Given the description of an element on the screen output the (x, y) to click on. 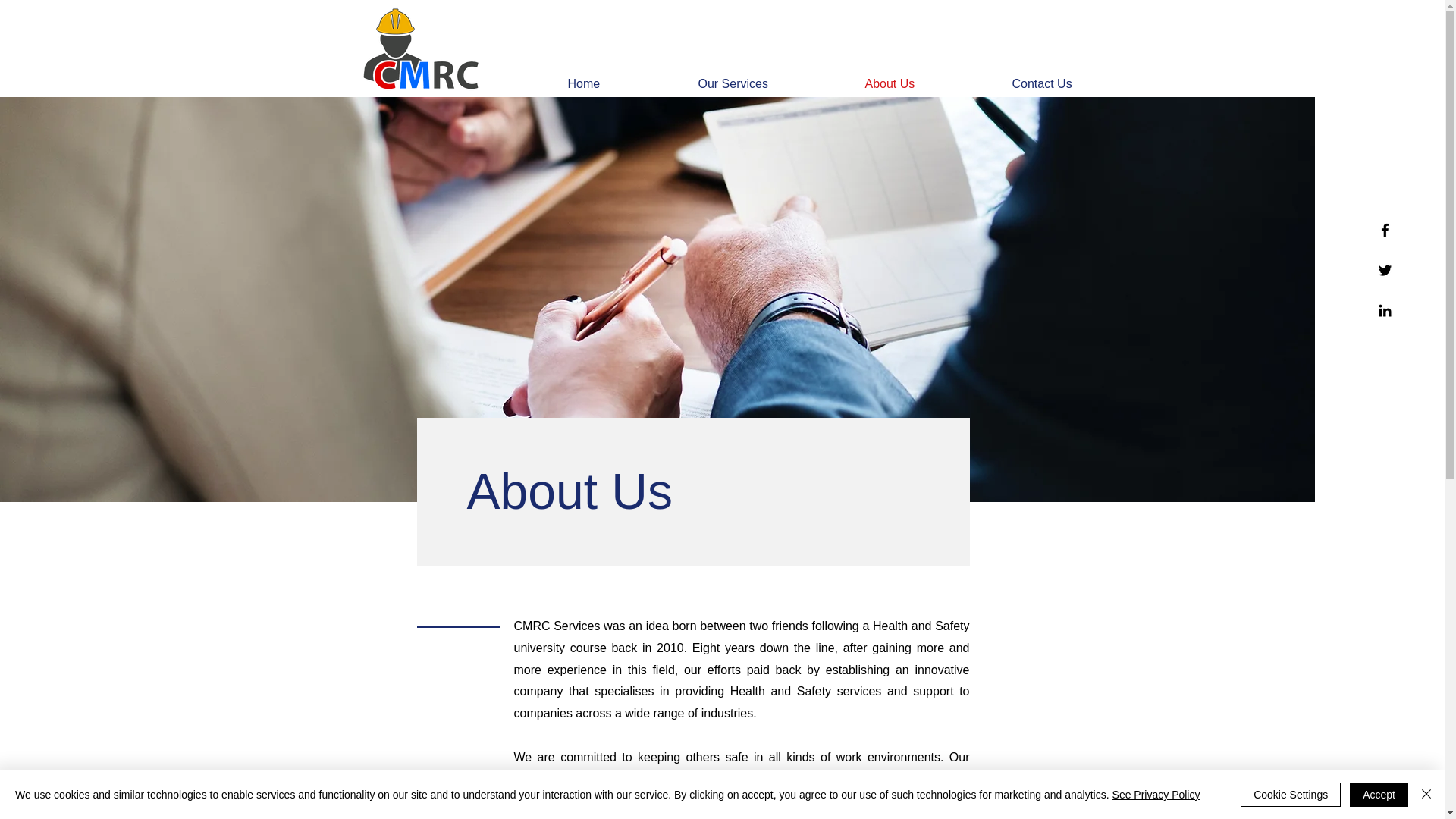
Cookie Settings (1290, 794)
Accept (1378, 794)
Home (621, 84)
See Privacy Policy (1155, 794)
Our Services (770, 84)
About Us (927, 84)
Contact Us (1079, 84)
